Given the description of an element on the screen output the (x, y) to click on. 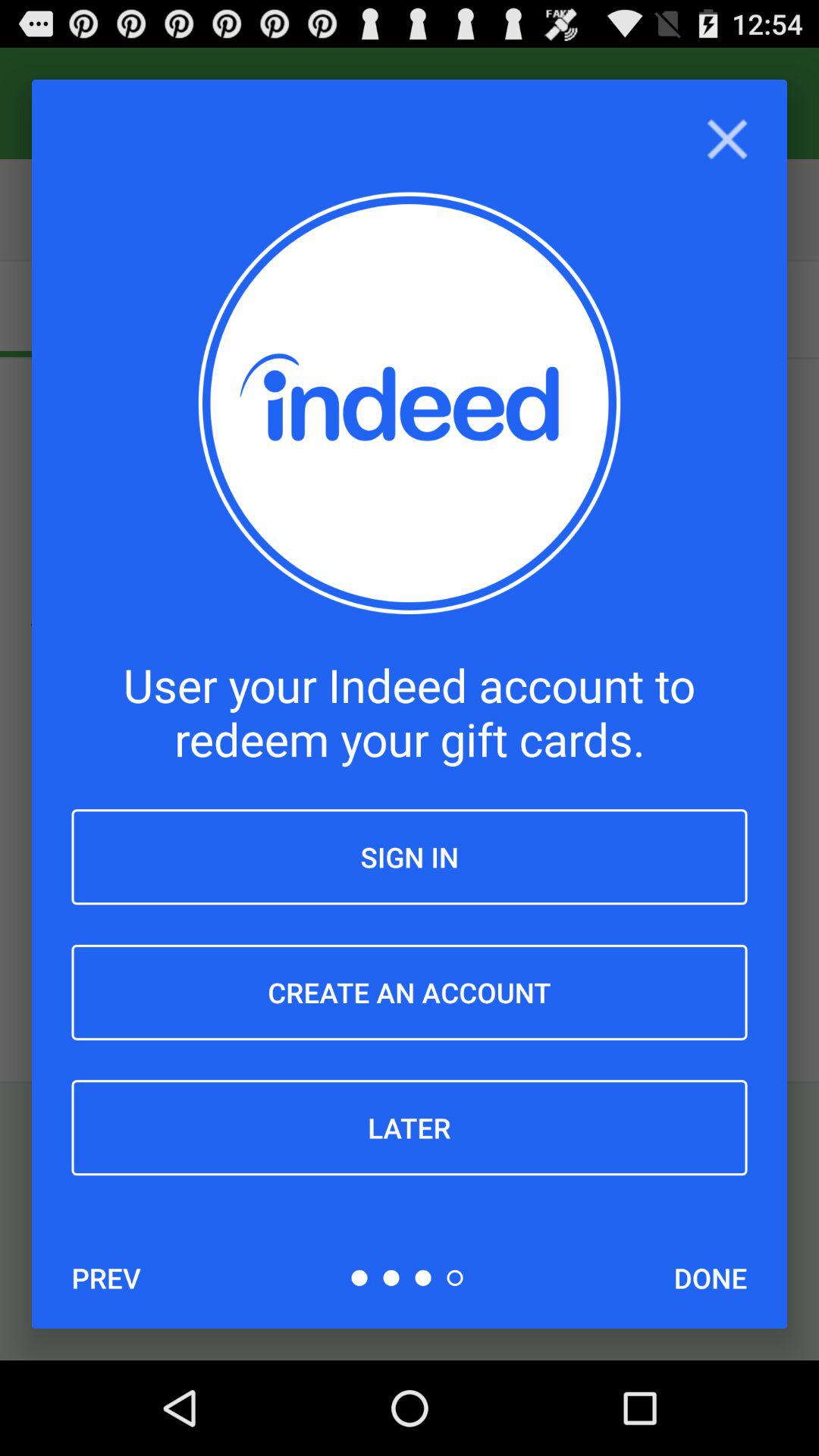
select item above the create an account icon (409, 856)
